Given the description of an element on the screen output the (x, y) to click on. 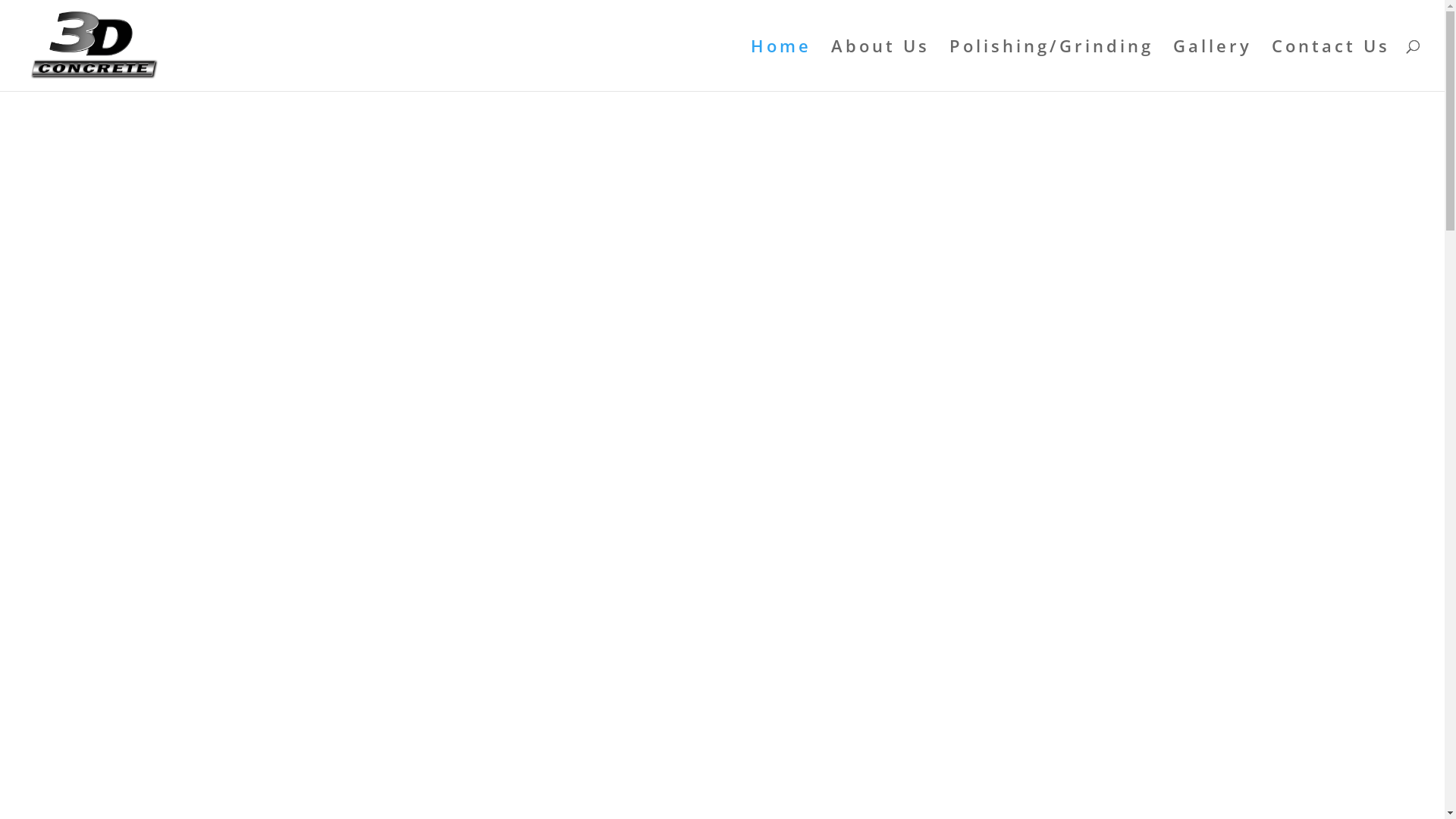
Home Element type: text (780, 65)
Gallery Element type: text (1212, 65)
About Us Element type: text (880, 65)
Contact Us Element type: text (1330, 65)
Polishing/Grinding Element type: text (1051, 65)
